Given the description of an element on the screen output the (x, y) to click on. 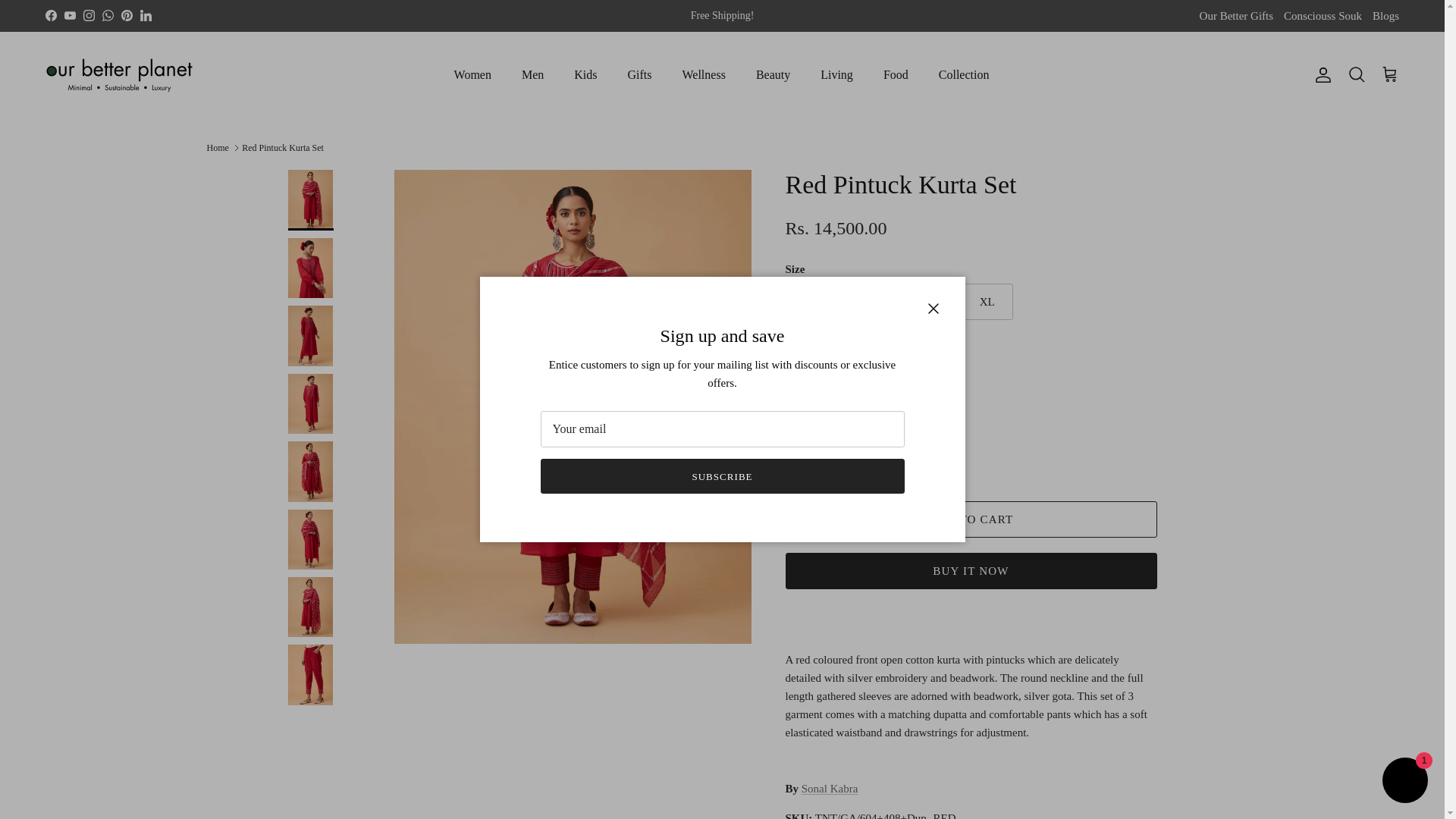
LinkedIn (145, 15)
Consciouss Souk (1322, 15)
Men (532, 74)
Facebook (50, 15)
Beauty (772, 74)
Instagram (88, 15)
Food (895, 74)
Search (1356, 75)
Living (836, 74)
Account (1319, 75)
Collection (963, 74)
Our Better Planet on WhatsApp (107, 15)
Blogs (1386, 15)
Gifts (639, 74)
YouTube (69, 15)
